Given the description of an element on the screen output the (x, y) to click on. 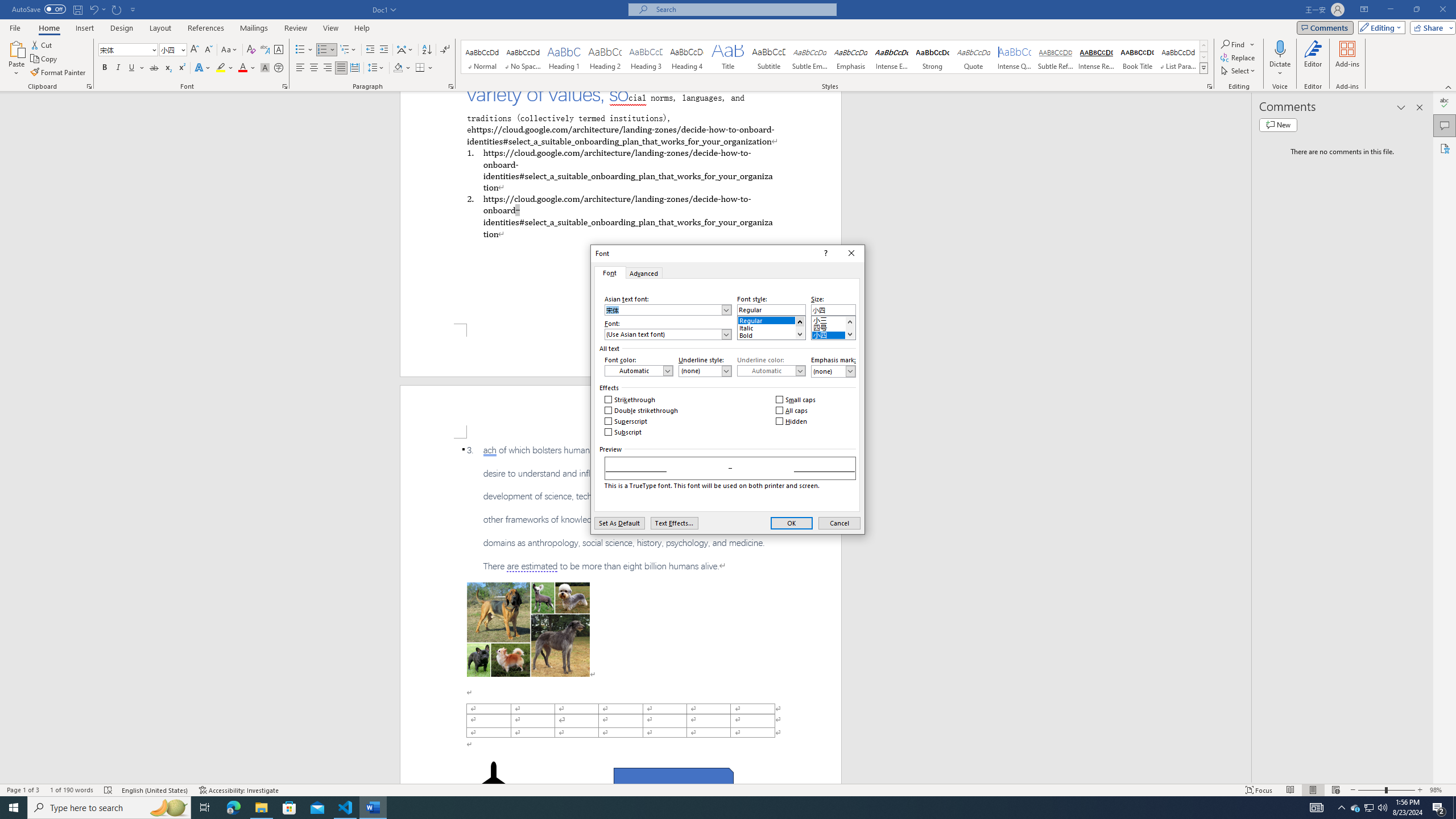
Font style: (771, 309)
Center (313, 67)
Book Title (1136, 56)
OK (791, 522)
Phonetic Guide... (264, 49)
Airplane with solid fill (493, 783)
Cut (42, 44)
Underline style: (705, 370)
Task View (204, 807)
Subtitle (768, 56)
Text Highlight Color (224, 67)
Microsoft Edge (233, 807)
